Given the description of an element on the screen output the (x, y) to click on. 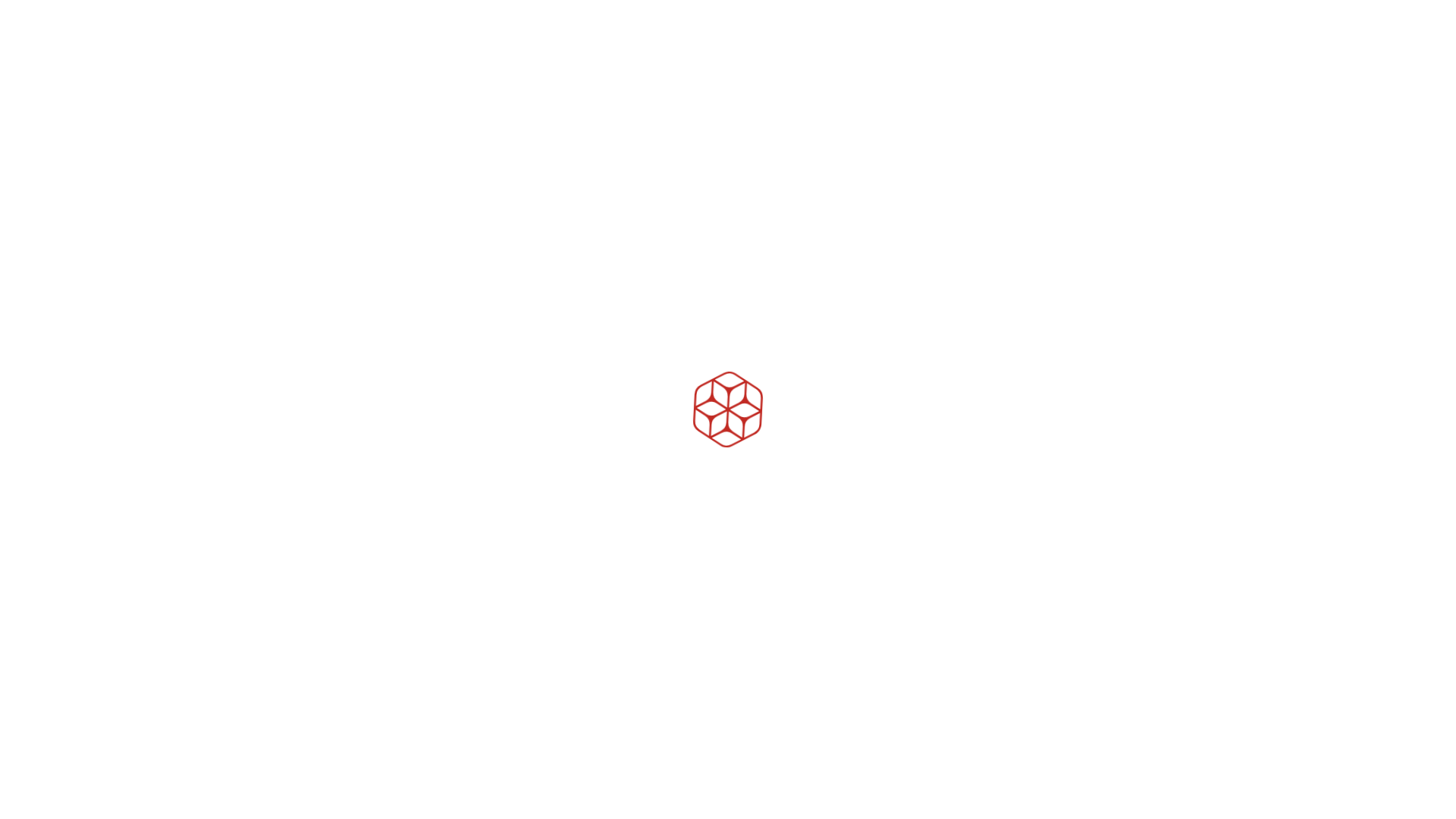
Team Element type: text (750, 265)
Contact Element type: text (1333, 582)
< Element type: text (758, 581)
> Element type: text (809, 581)
